Given the description of an element on the screen output the (x, y) to click on. 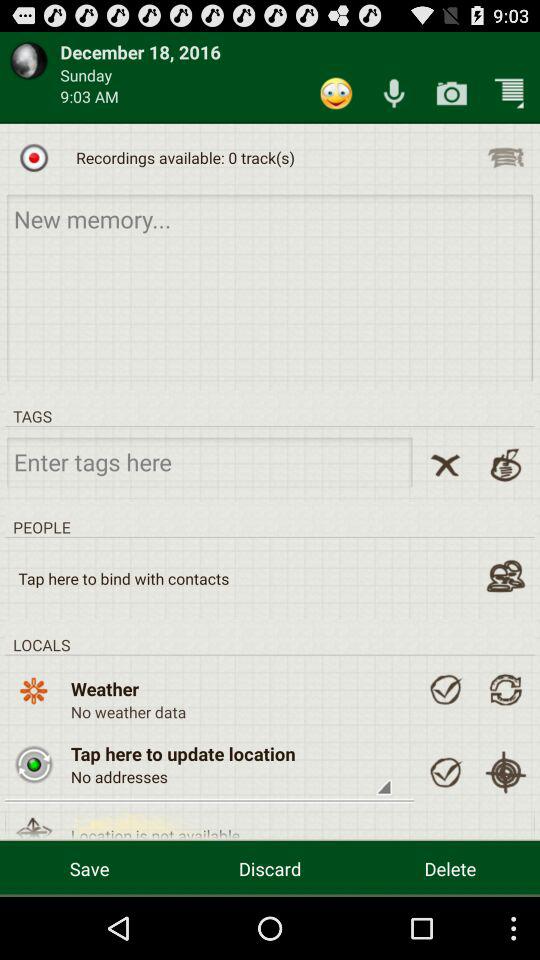
tags (209, 461)
